Given the description of an element on the screen output the (x, y) to click on. 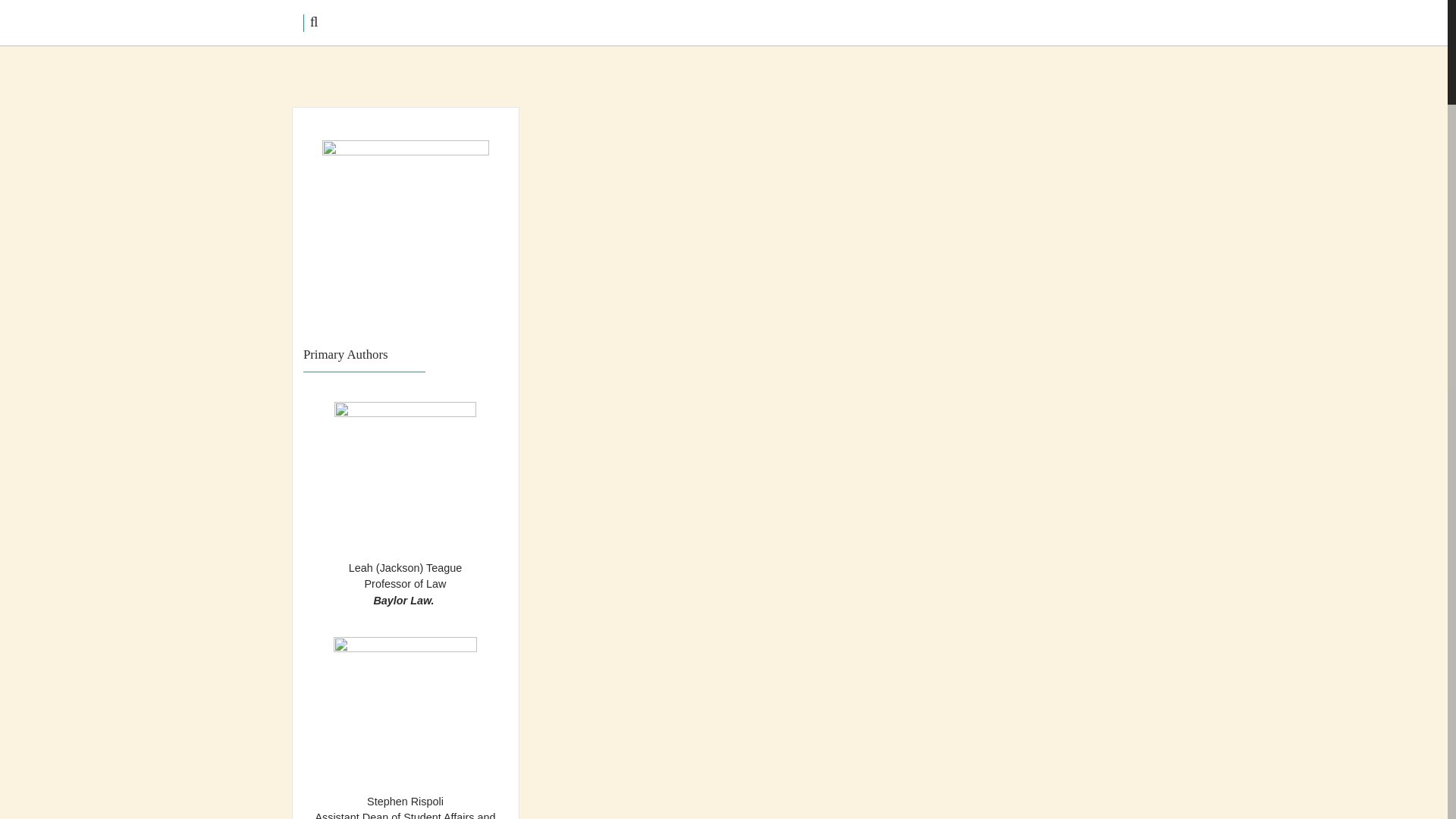
Training Lawyers as Leaders (376, 151)
